Given the description of an element on the screen output the (x, y) to click on. 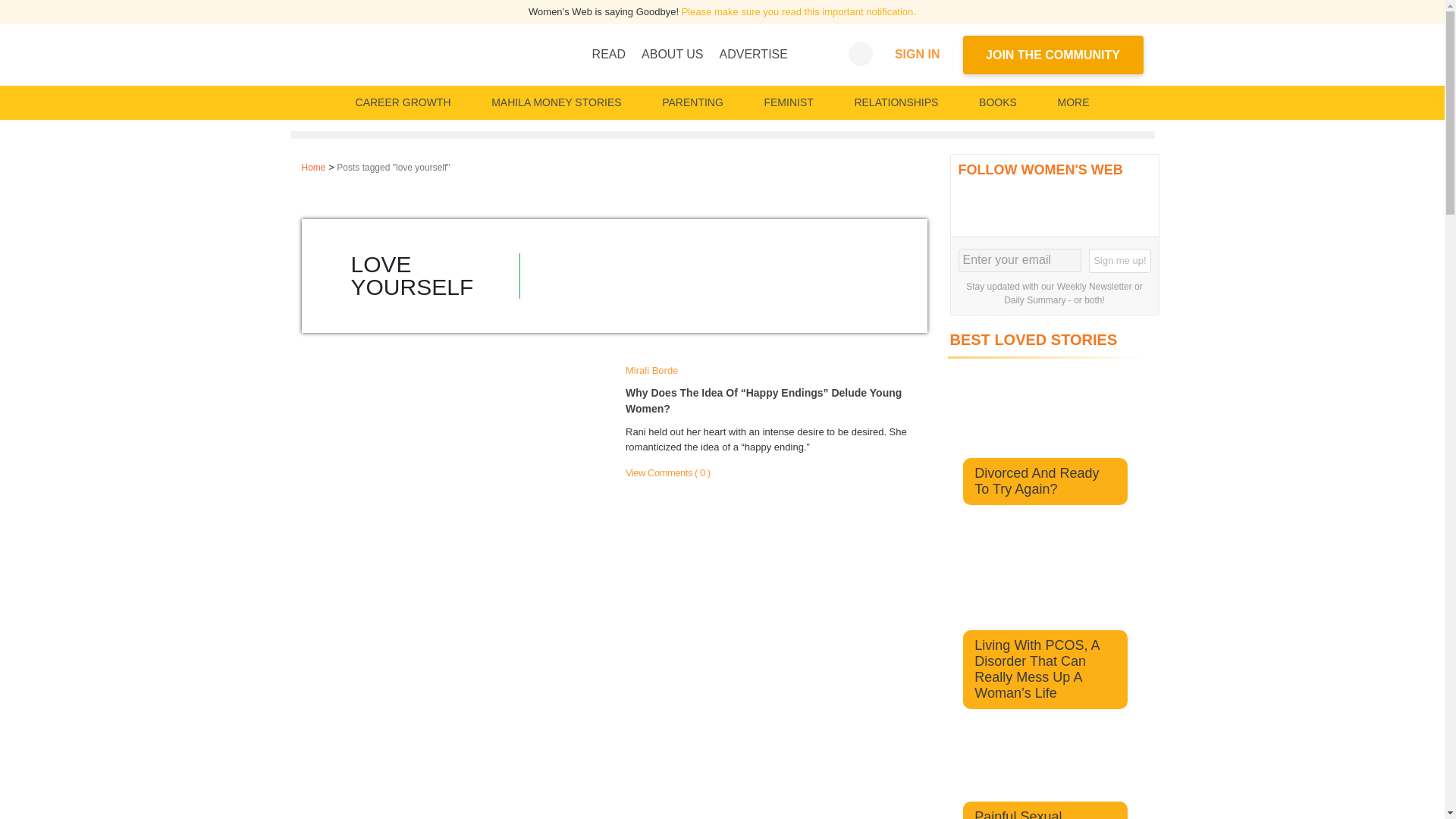
ADVERTISE (753, 54)
PARENTING (691, 102)
Sign me up! (1119, 260)
MAHILA MONEY STORIES (555, 102)
CAREER GROWTH (402, 102)
BOOKS (998, 102)
Divorced And Ready To Try Again? (1036, 481)
MORE (1072, 102)
FEMINIST (788, 102)
Please make sure you read this important notification. (798, 11)
